Given the description of an element on the screen output the (x, y) to click on. 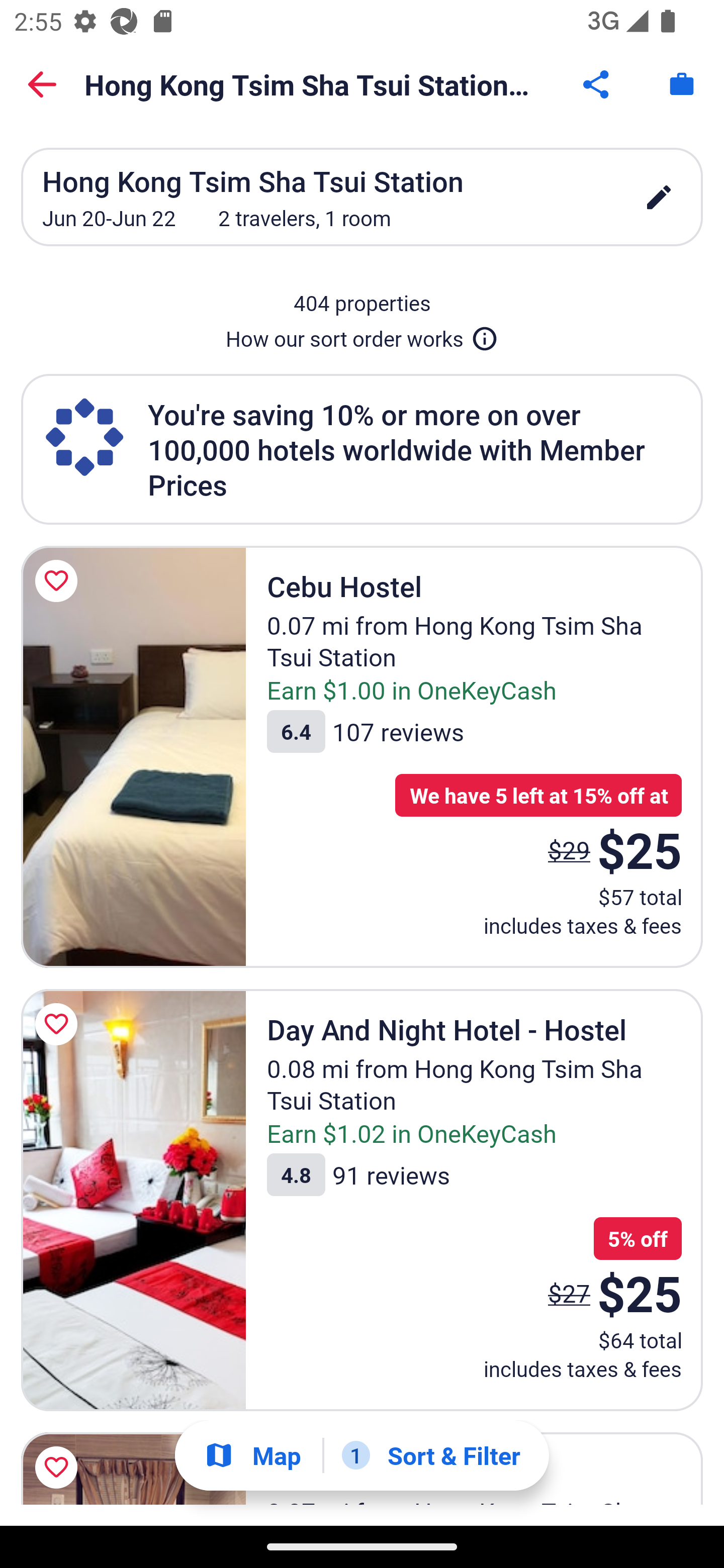
Back (42, 84)
Share Button (597, 84)
Trips. Button (681, 84)
How our sort order works (361, 334)
Save Cebu Hostel to a trip (59, 580)
Cebu Hostel (133, 756)
$29 The price was $29 (569, 849)
Save Day And Night Hotel - Hostel to a trip (59, 1023)
Day And Night Hotel - Hostel (133, 1200)
$27 The price was $27 (569, 1293)
1 Sort & Filter 1 Filter applied. Filters Button (430, 1455)
Save Dhillon Hotel - Hostel to a trip (59, 1465)
Show map Map Show map Button (252, 1455)
